Given the description of an element on the screen output the (x, y) to click on. 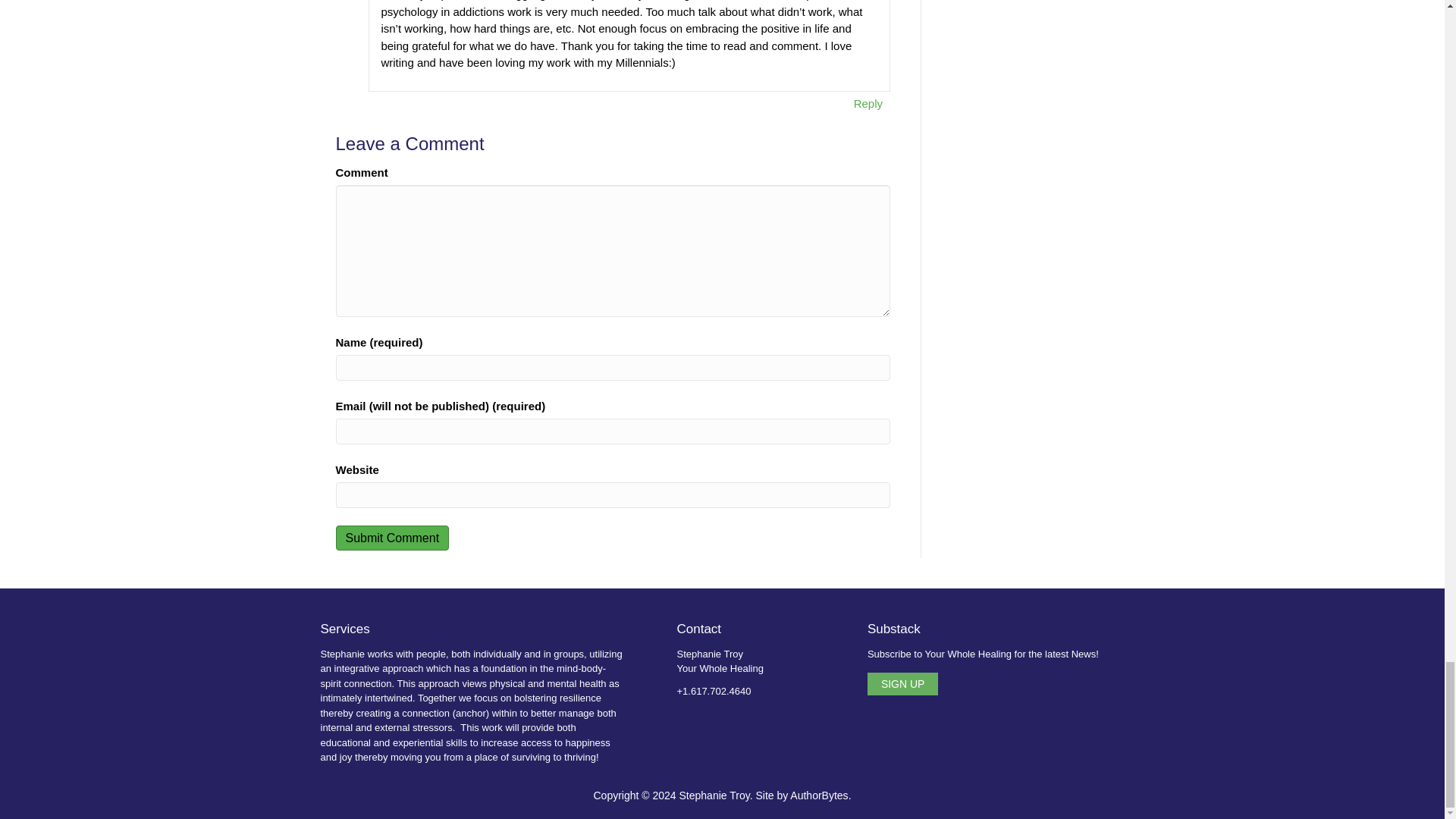
Submit Comment (391, 537)
Submit Comment (391, 537)
Reply (868, 103)
